Given the description of an element on the screen output the (x, y) to click on. 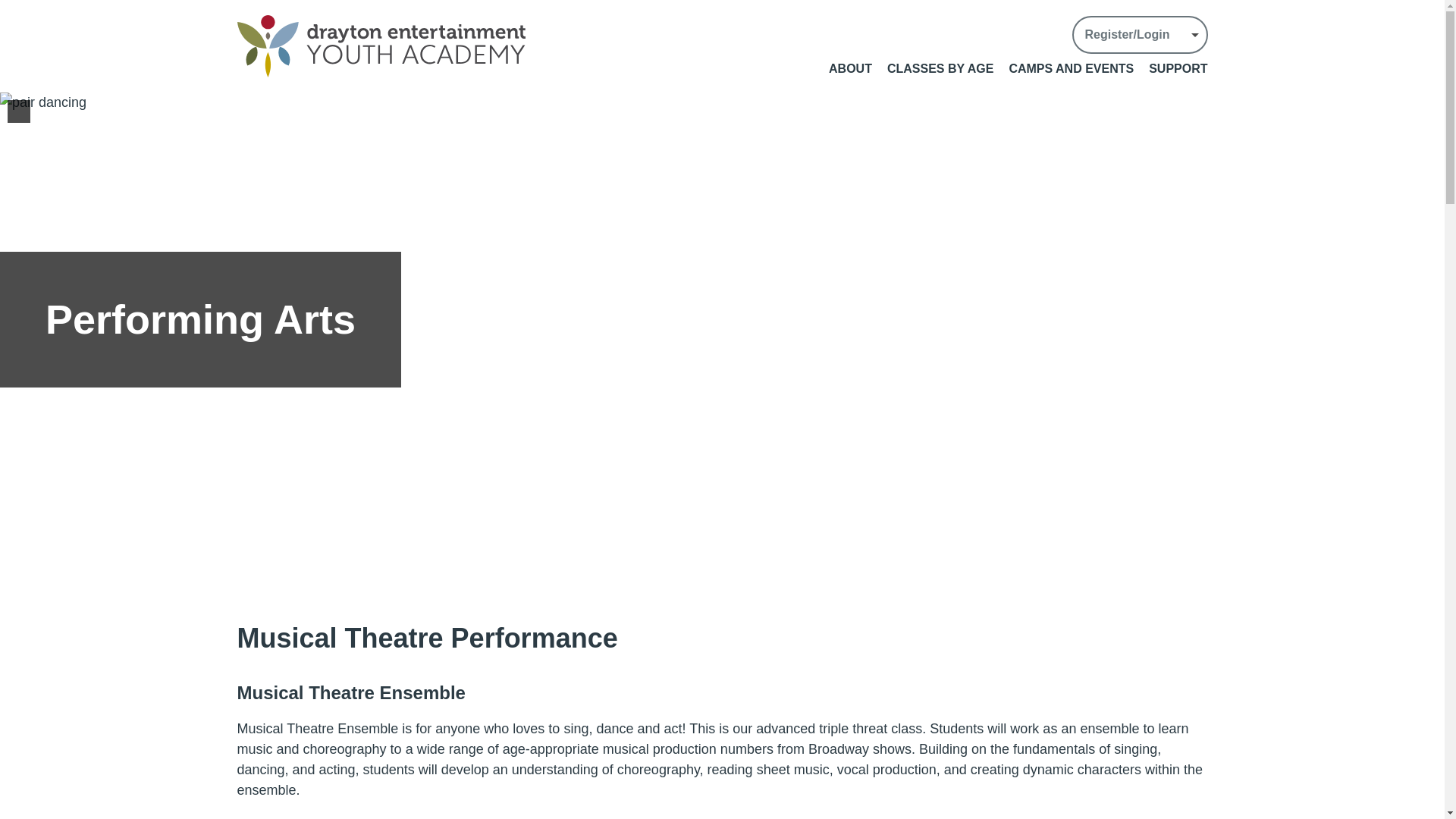
CLASSES BY AGE (939, 68)
ABOUT (850, 68)
CAMPS AND EVENTS (1071, 68)
